Given the description of an element on the screen output the (x, y) to click on. 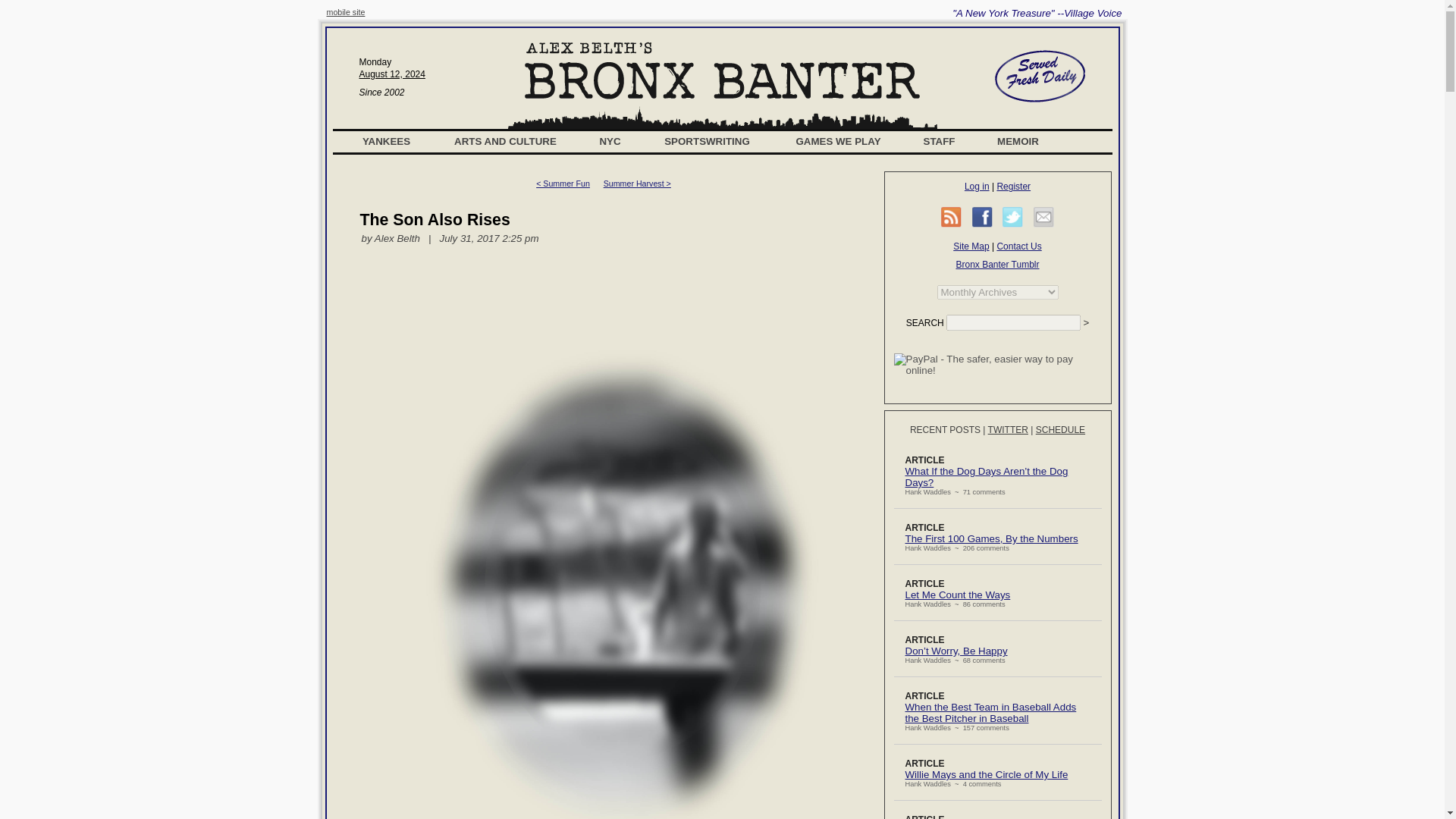
YANKEES (386, 141)
NYC (610, 141)
ARTS AND CULTURE (504, 141)
mobile site (345, 11)
